Given the description of an element on the screen output the (x, y) to click on. 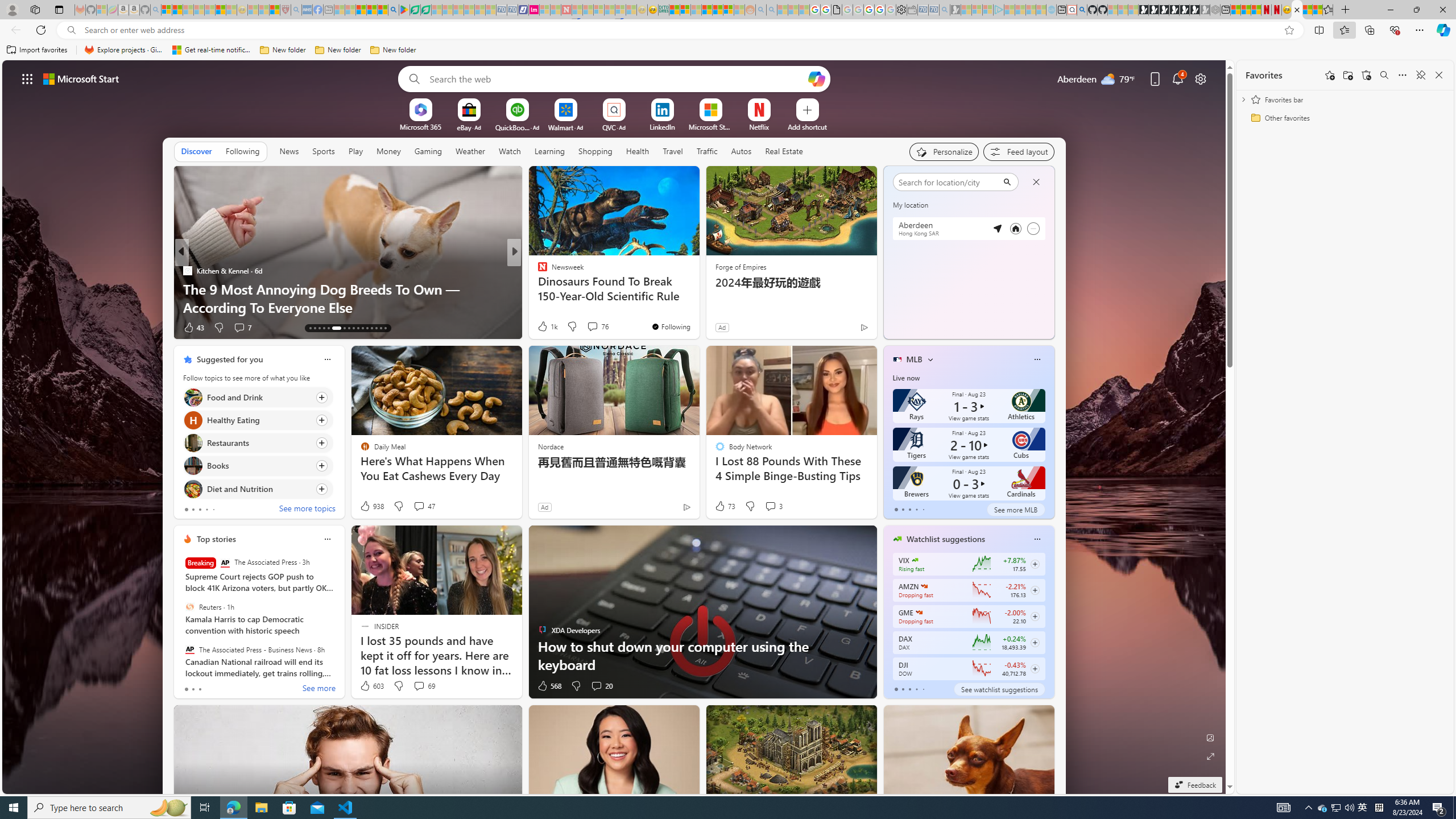
AutomationID: tab-16 (323, 328)
Restaurants (192, 443)
Detected location (997, 228)
85 Like (543, 327)
Search icon (70, 29)
Click to follow topic Diet and Nutrition (257, 488)
New folder (392, 49)
